Given the description of an element on the screen output the (x, y) to click on. 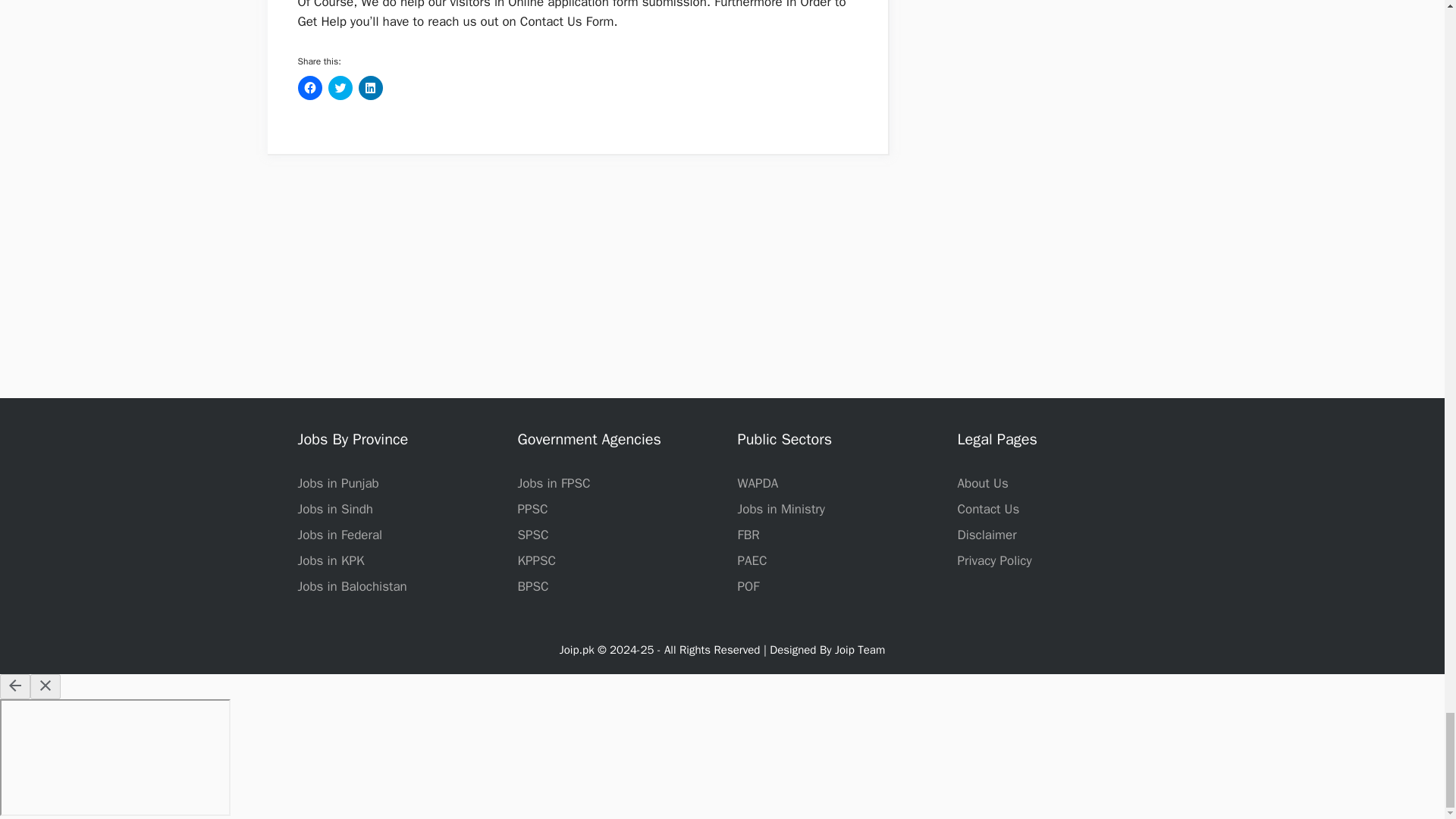
Click to share on LinkedIn (369, 87)
Click to share on Facebook (309, 87)
Click to share on Twitter (339, 87)
